Given the description of an element on the screen output the (x, y) to click on. 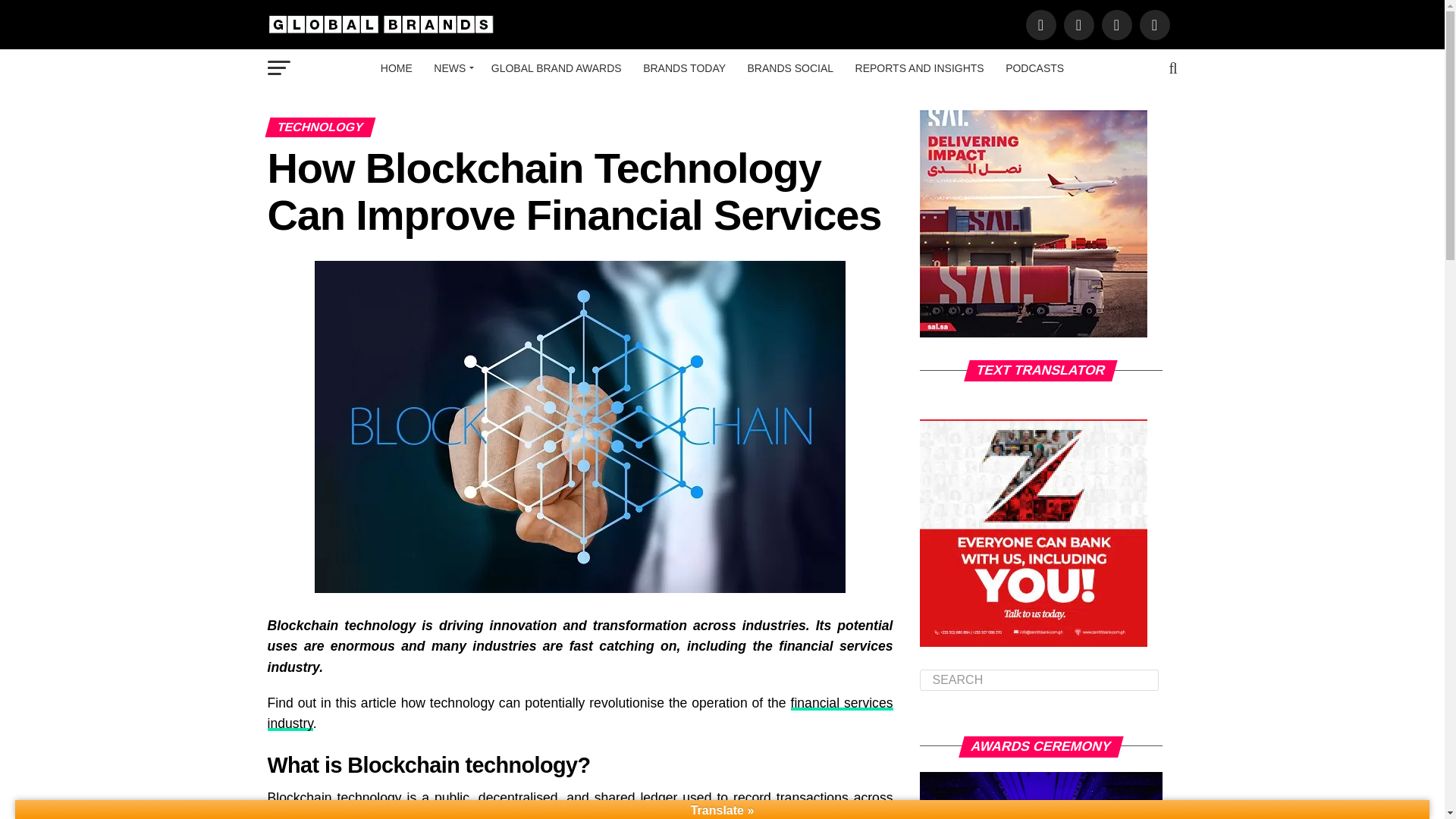
NEWS (452, 67)
HOME (396, 67)
Search (1038, 680)
